Given the description of an element on the screen output the (x, y) to click on. 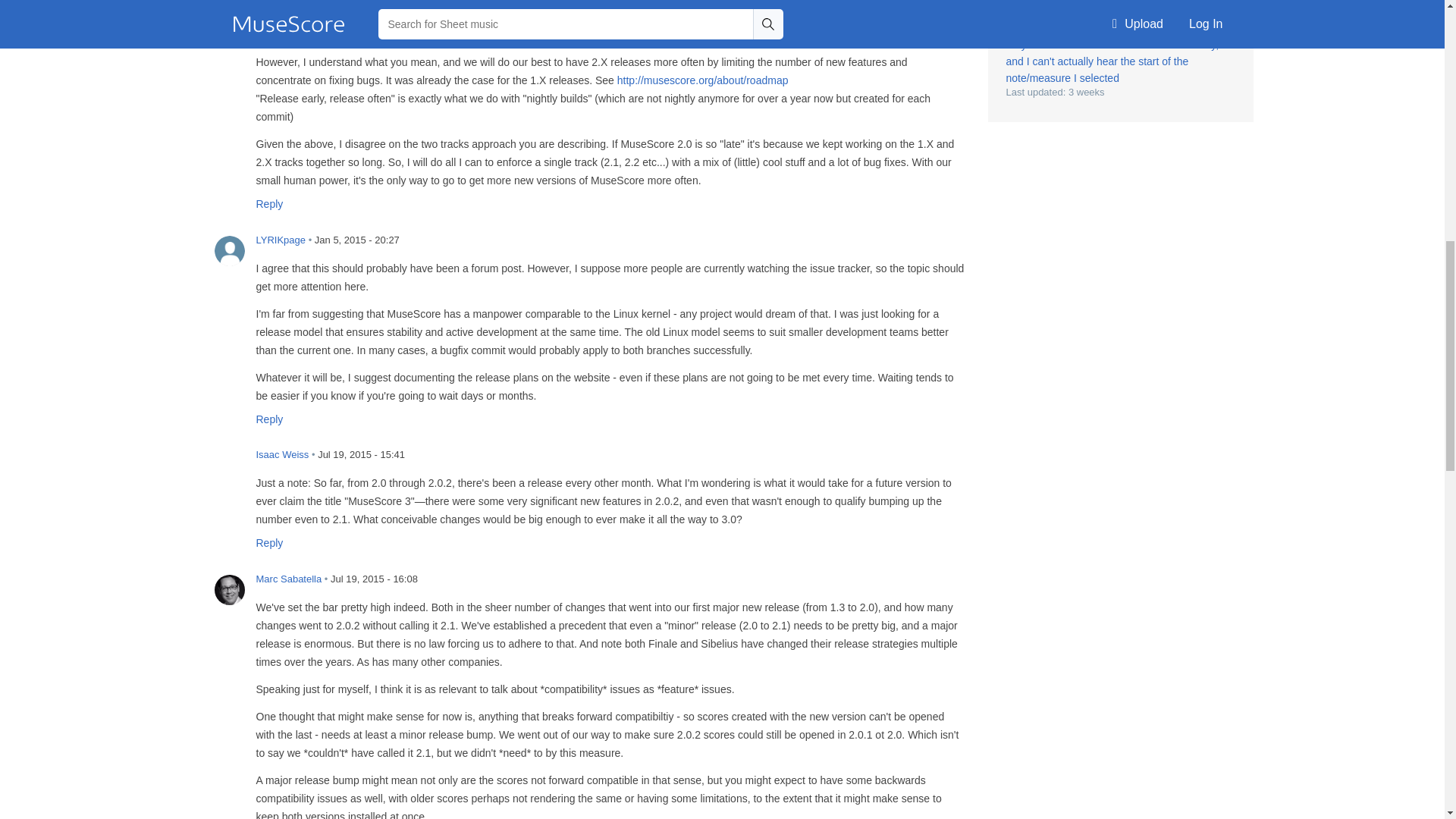
LYRIKpage (229, 250)
Marc Sabatella (229, 589)
Isaac Weiss (229, 465)
